Given the description of an element on the screen output the (x, y) to click on. 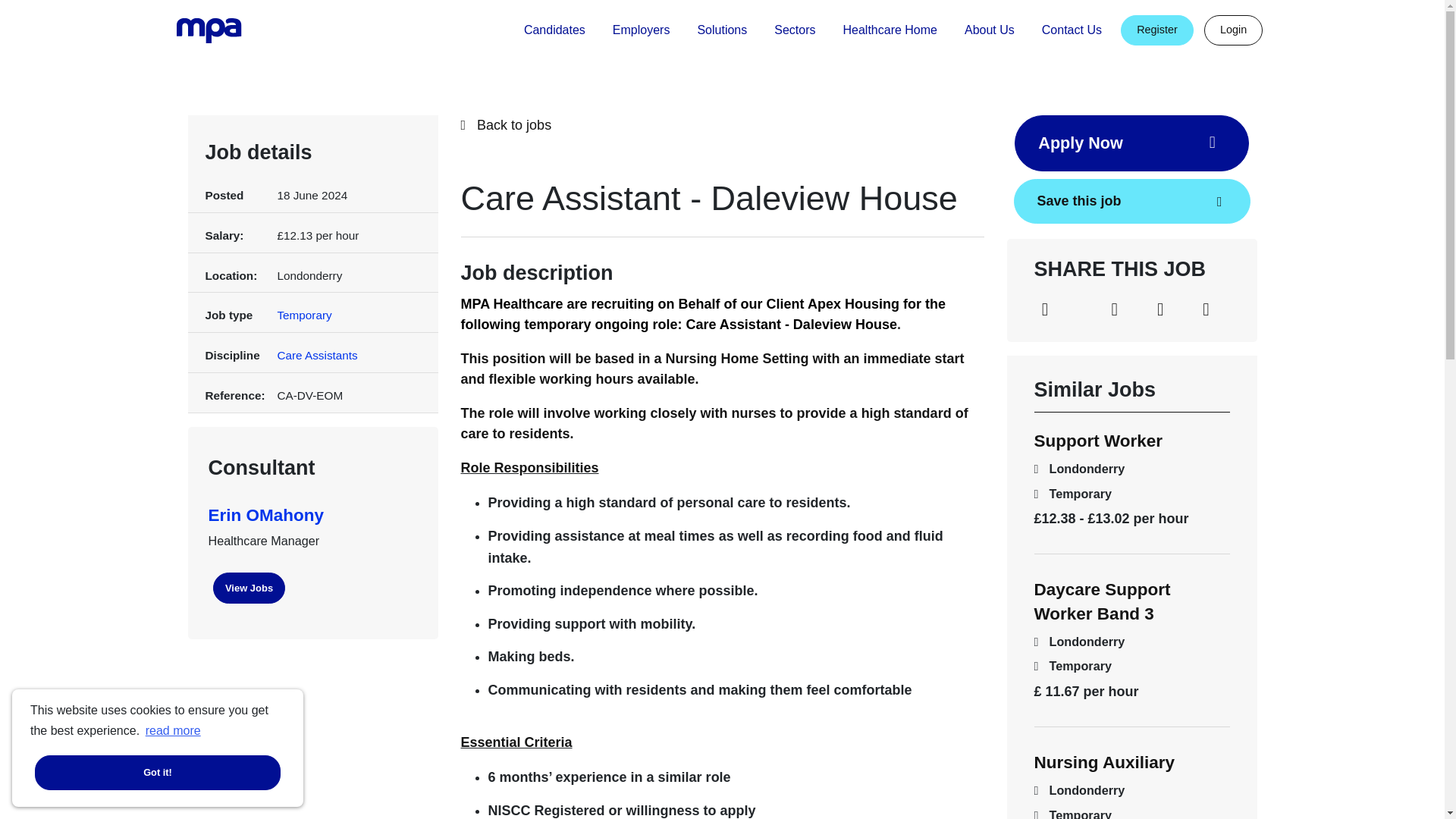
Got it! (156, 772)
read more (172, 730)
Go to the Homepage (211, 30)
